Given the description of an element on the screen output the (x, y) to click on. 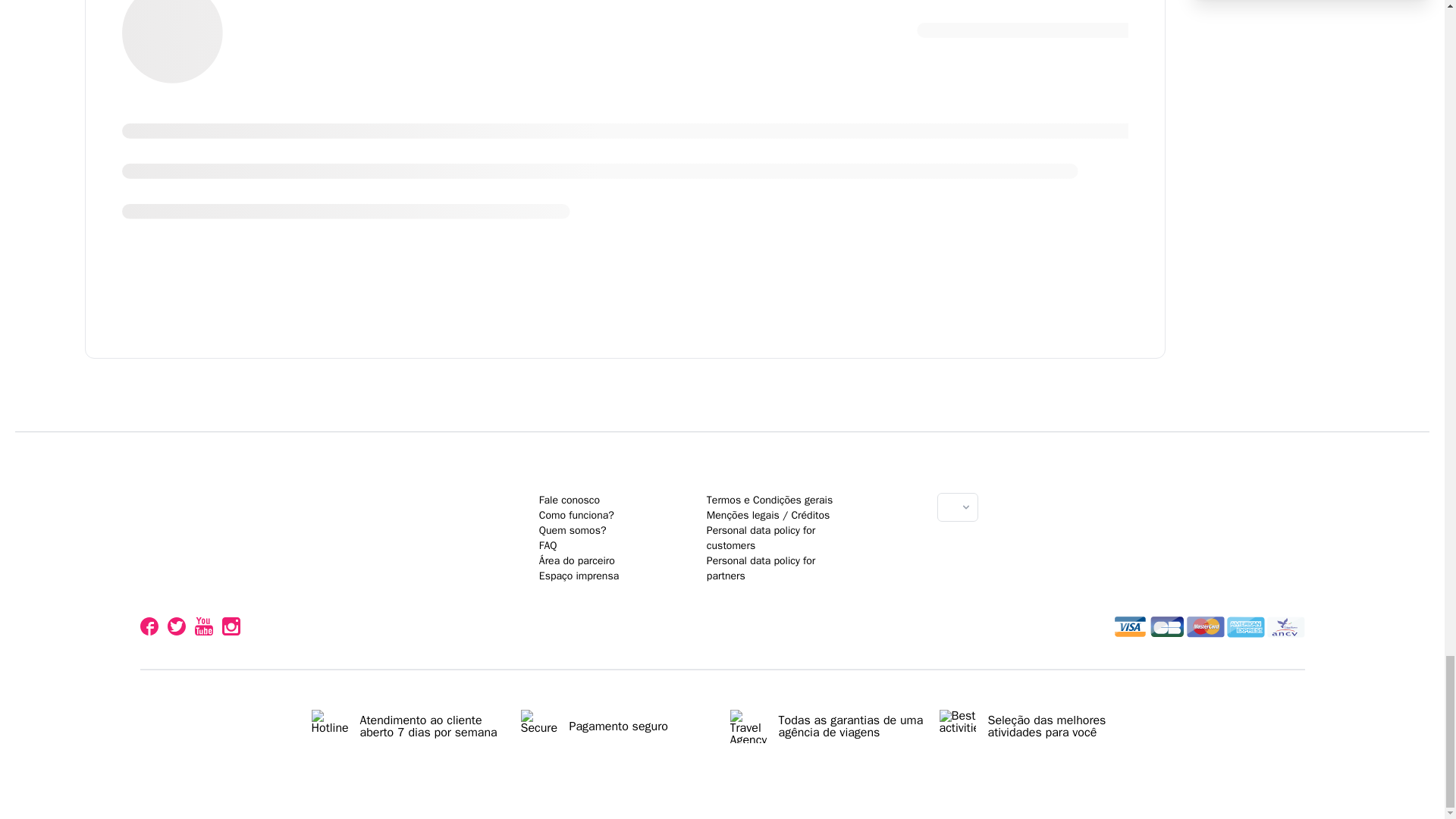
FAQ (547, 545)
Como funciona? (576, 514)
Fale conosco (568, 499)
Quem somos? (572, 530)
